Given the description of an element on the screen output the (x, y) to click on. 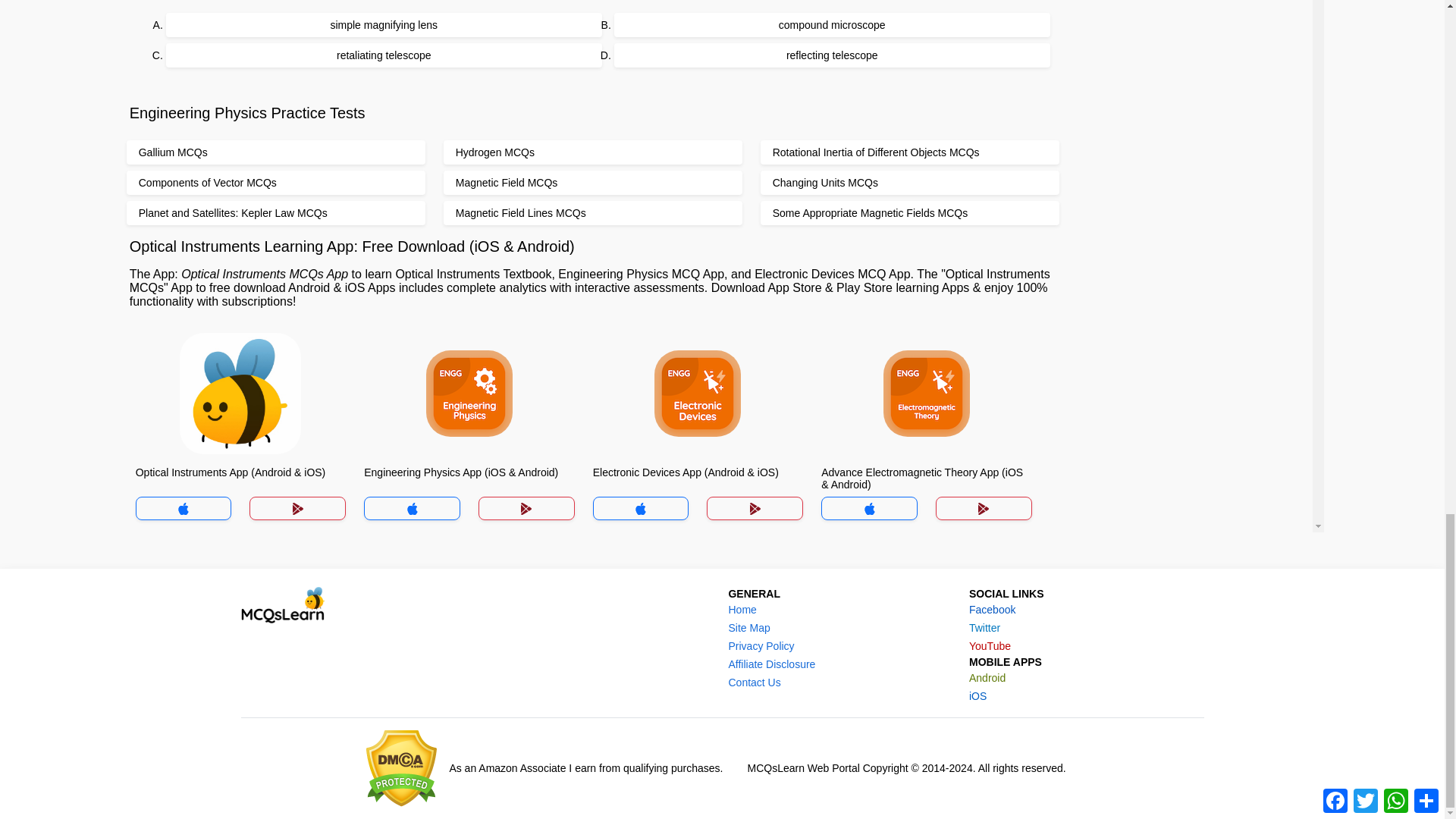
DMCA.com Protection Status (401, 768)
